Given the description of an element on the screen output the (x, y) to click on. 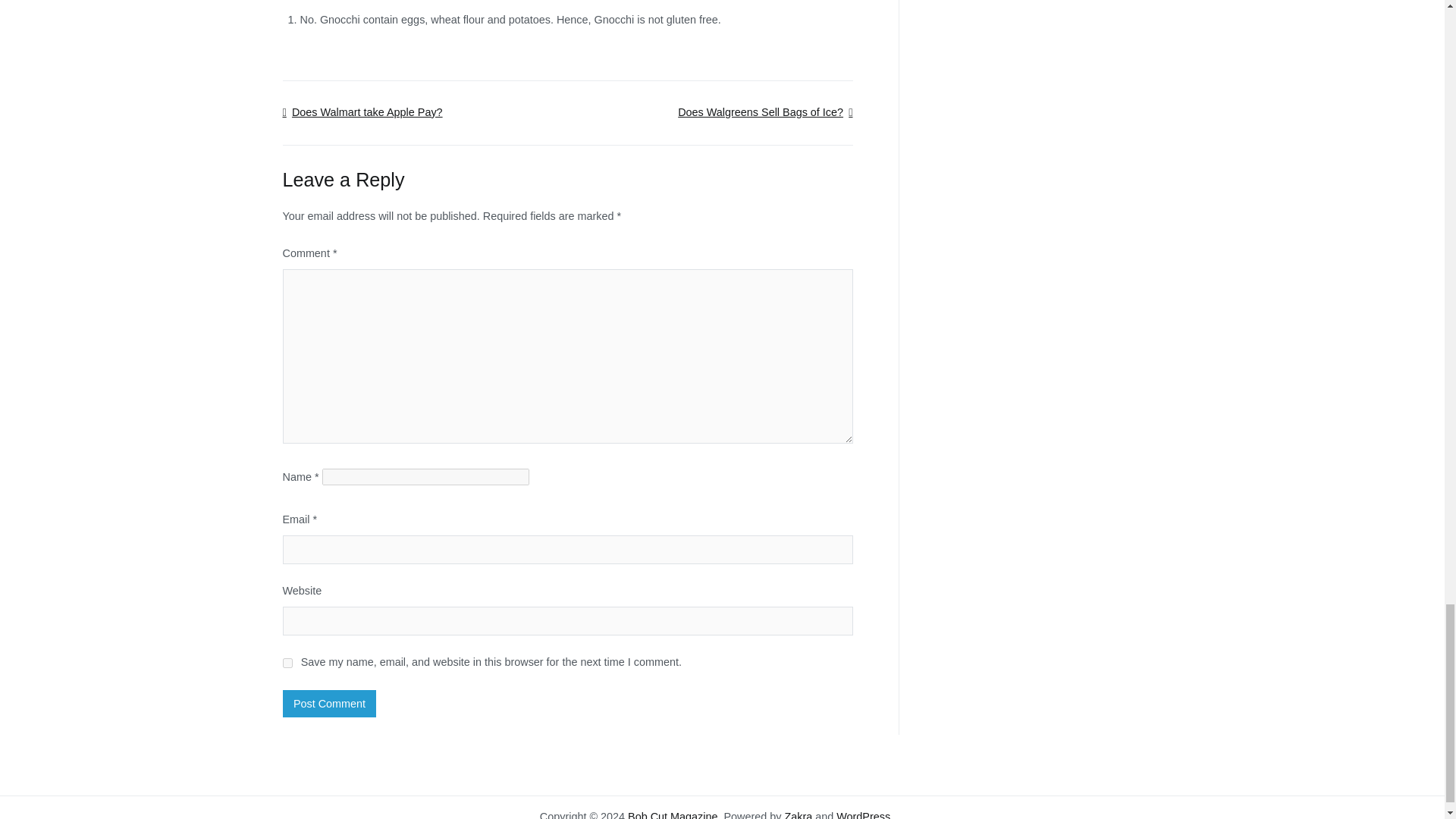
Bob Cut Magazine (672, 814)
yes (287, 663)
Zakra (798, 814)
Post Comment (328, 703)
WordPress (862, 814)
